Given the description of an element on the screen output the (x, y) to click on. 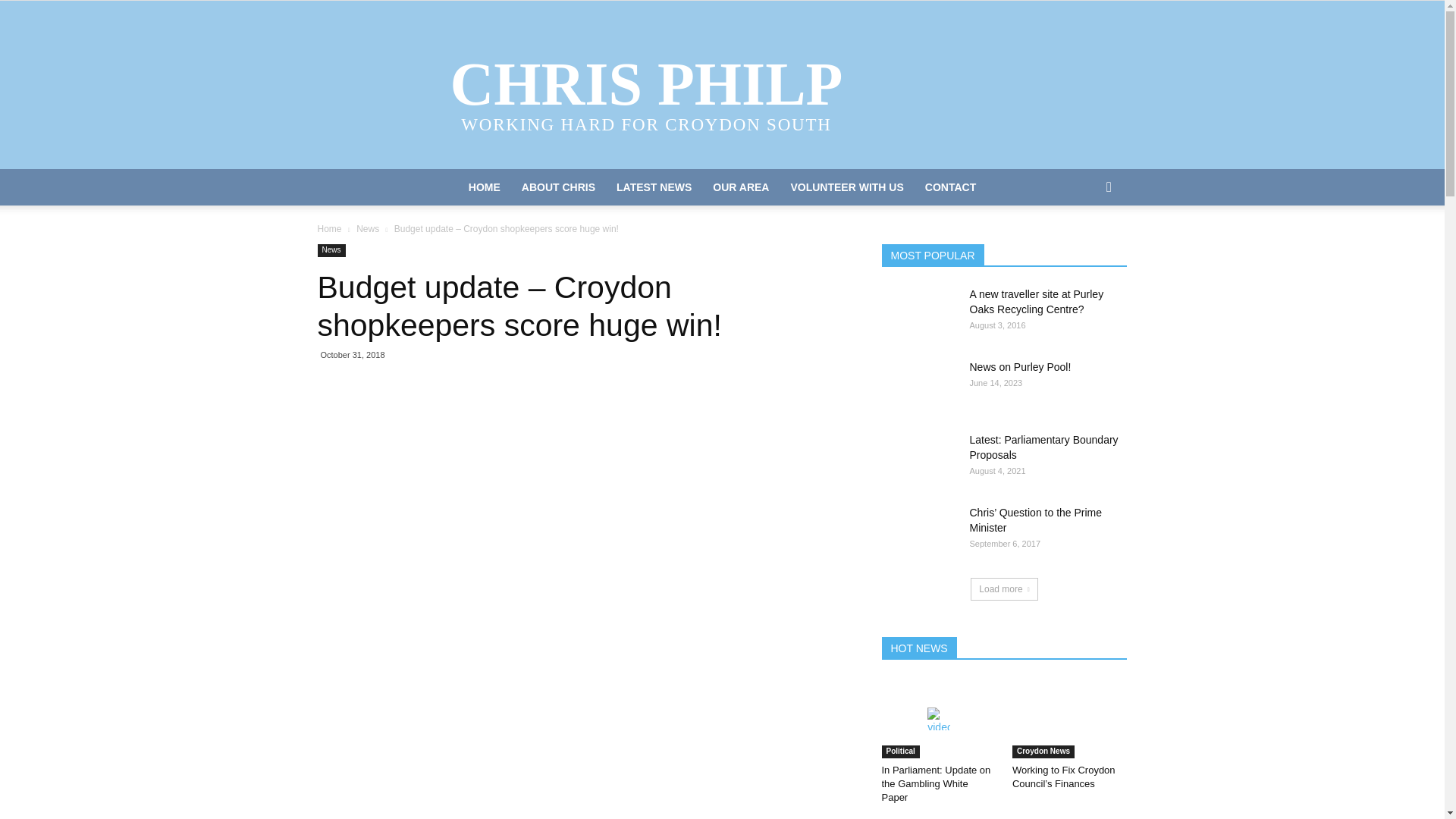
OUR AREA (739, 186)
VOLUNTEER WITH US (846, 186)
LATEST NEWS (653, 186)
View all posts in News (367, 228)
News (331, 250)
Home (328, 228)
CONTACT (950, 186)
ABOUT CHRIS (558, 186)
News (367, 228)
HOME (484, 186)
